Given the description of an element on the screen output the (x, y) to click on. 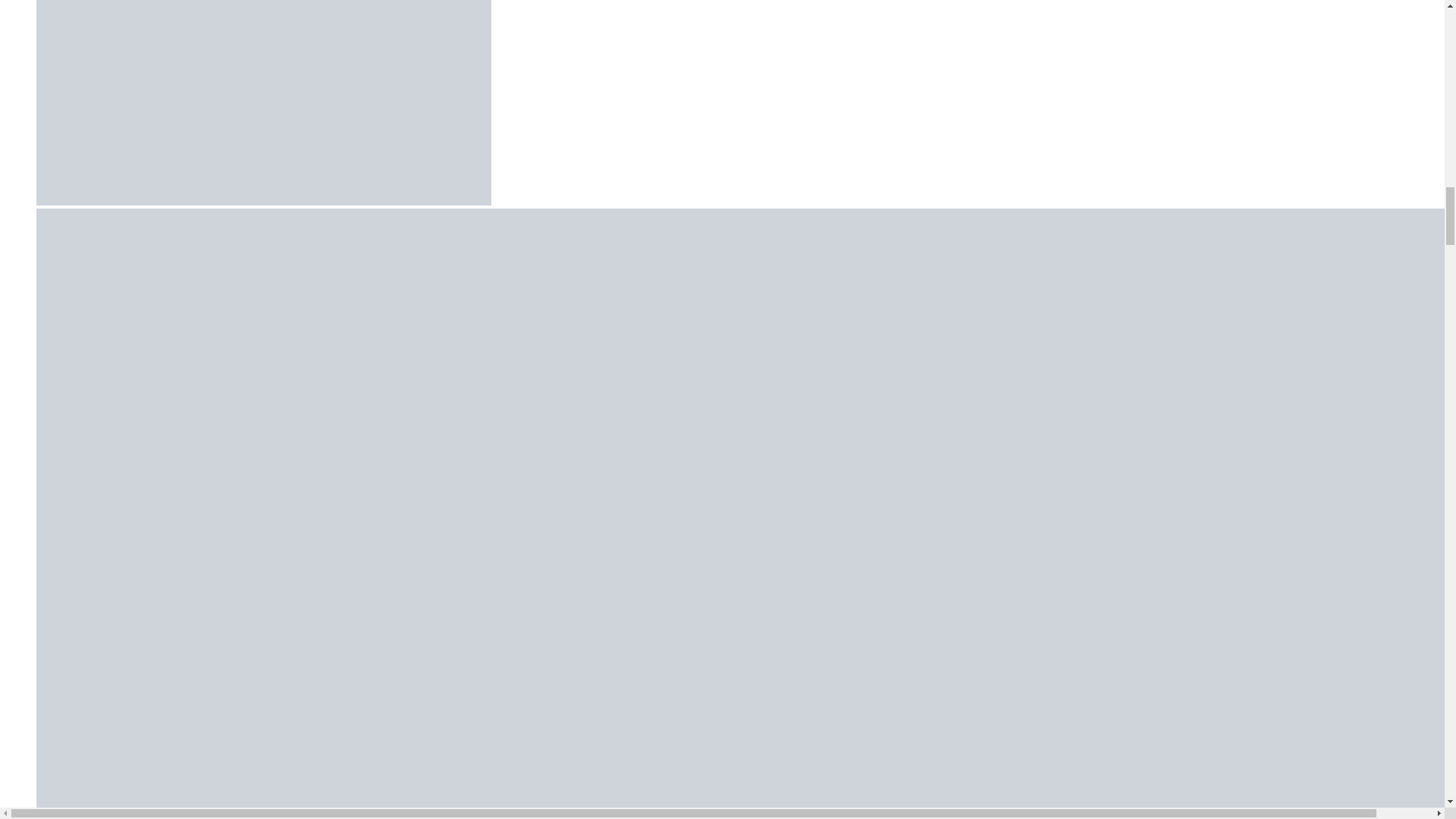
WhatsApp Image 2022-08-28 at 9.22.29 PM (264, 102)
